Given the description of an element on the screen output the (x, y) to click on. 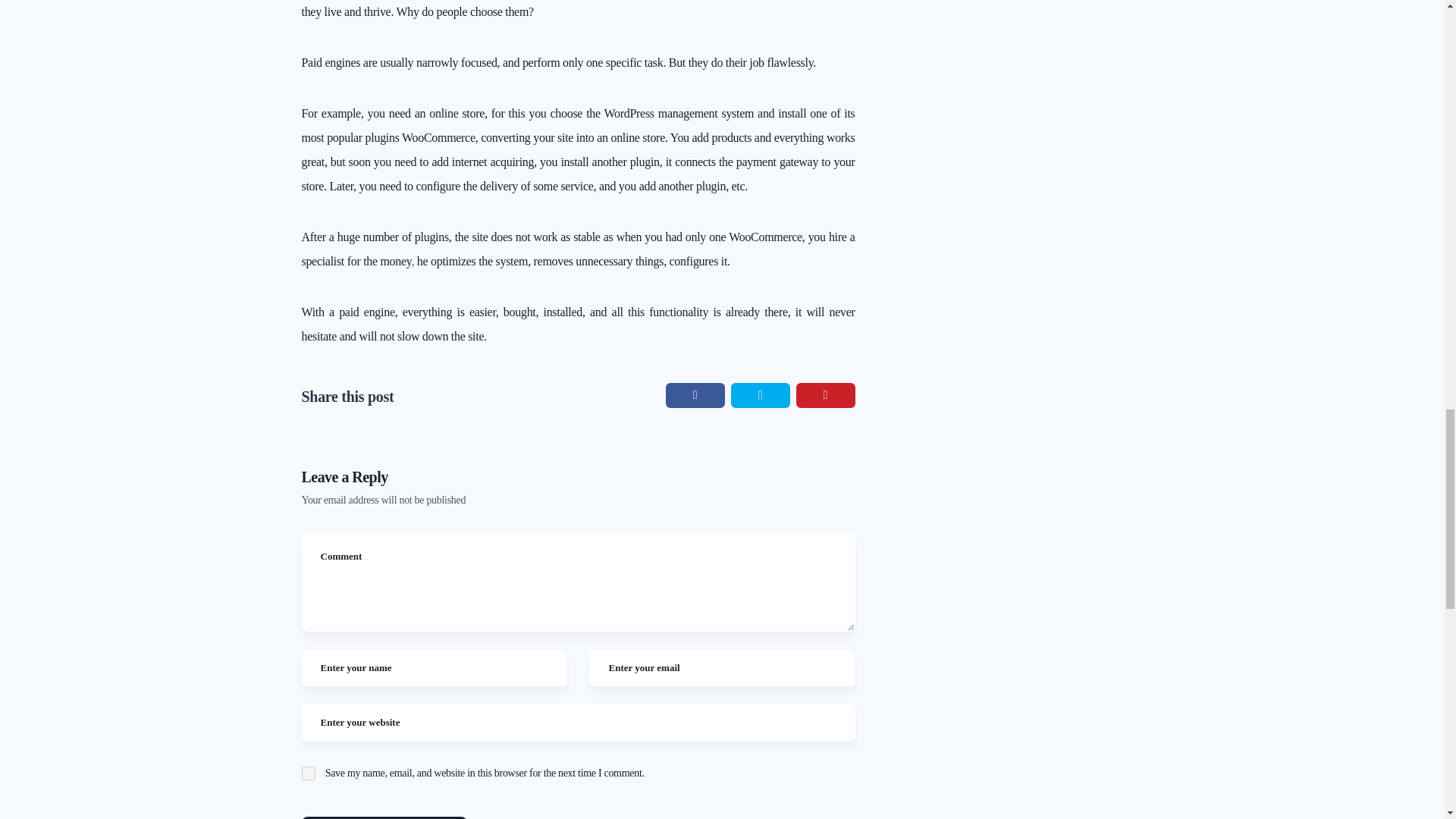
yes (308, 773)
Post Comment (384, 817)
Post Comment (384, 817)
